Given the description of an element on the screen output the (x, y) to click on. 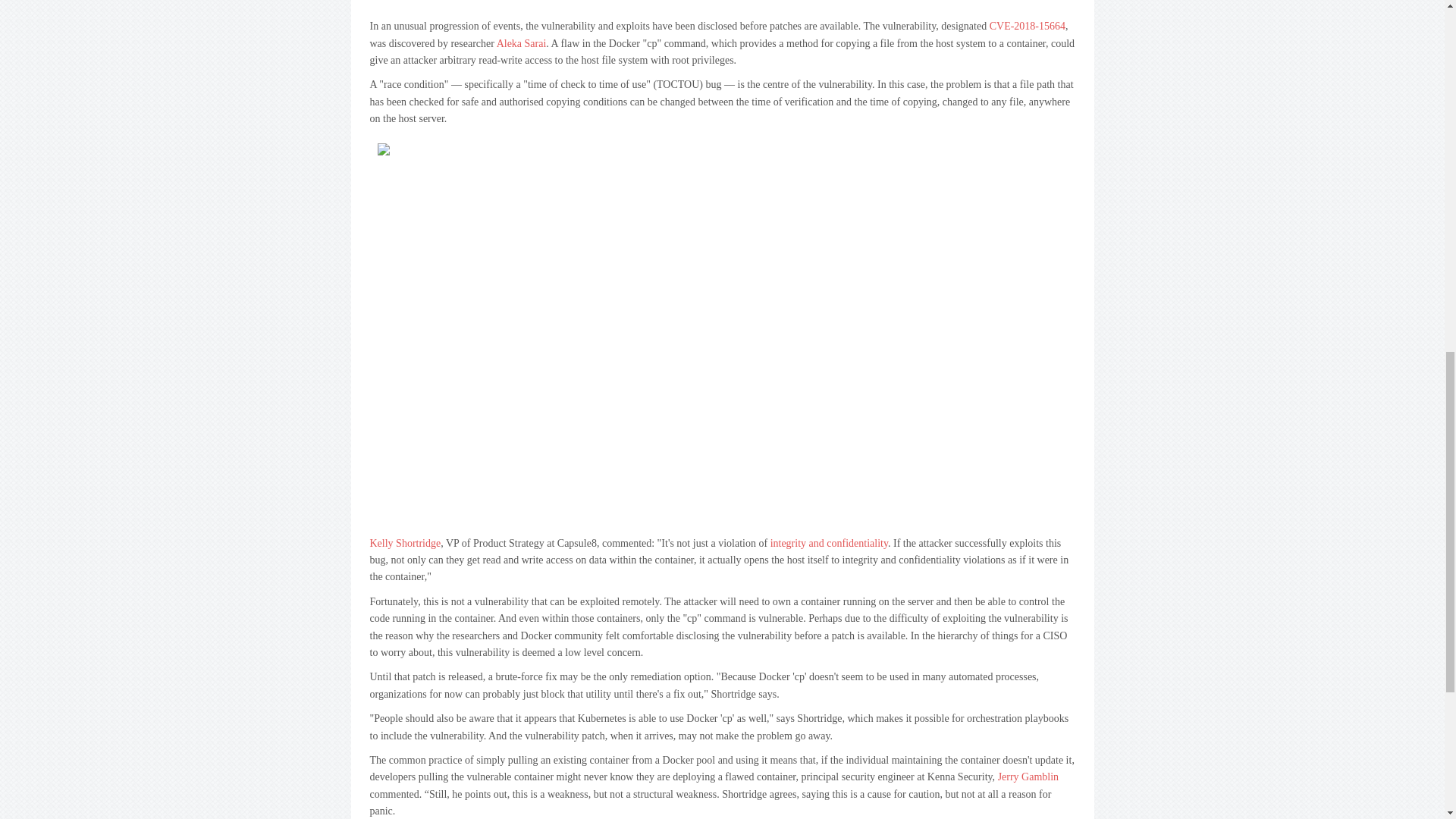
Jerry Gamblin (1027, 776)
CVE-2018-15664 (1027, 25)
Aleka Sarai (521, 43)
integrity and confidentiality (829, 542)
Kelly Shortridge (405, 542)
